Given the description of an element on the screen output the (x, y) to click on. 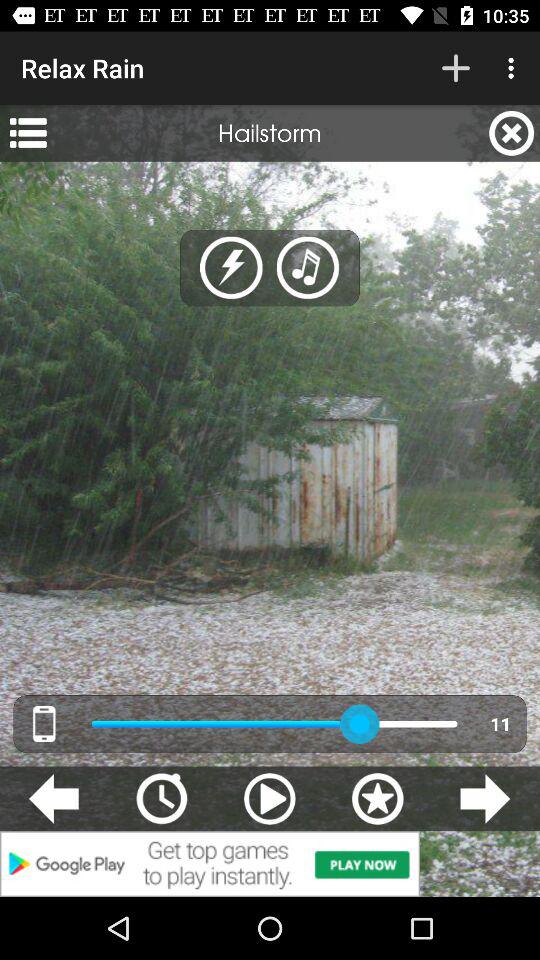
open the icon to the left of hailstorm app (28, 133)
